Given the description of an element on the screen output the (x, y) to click on. 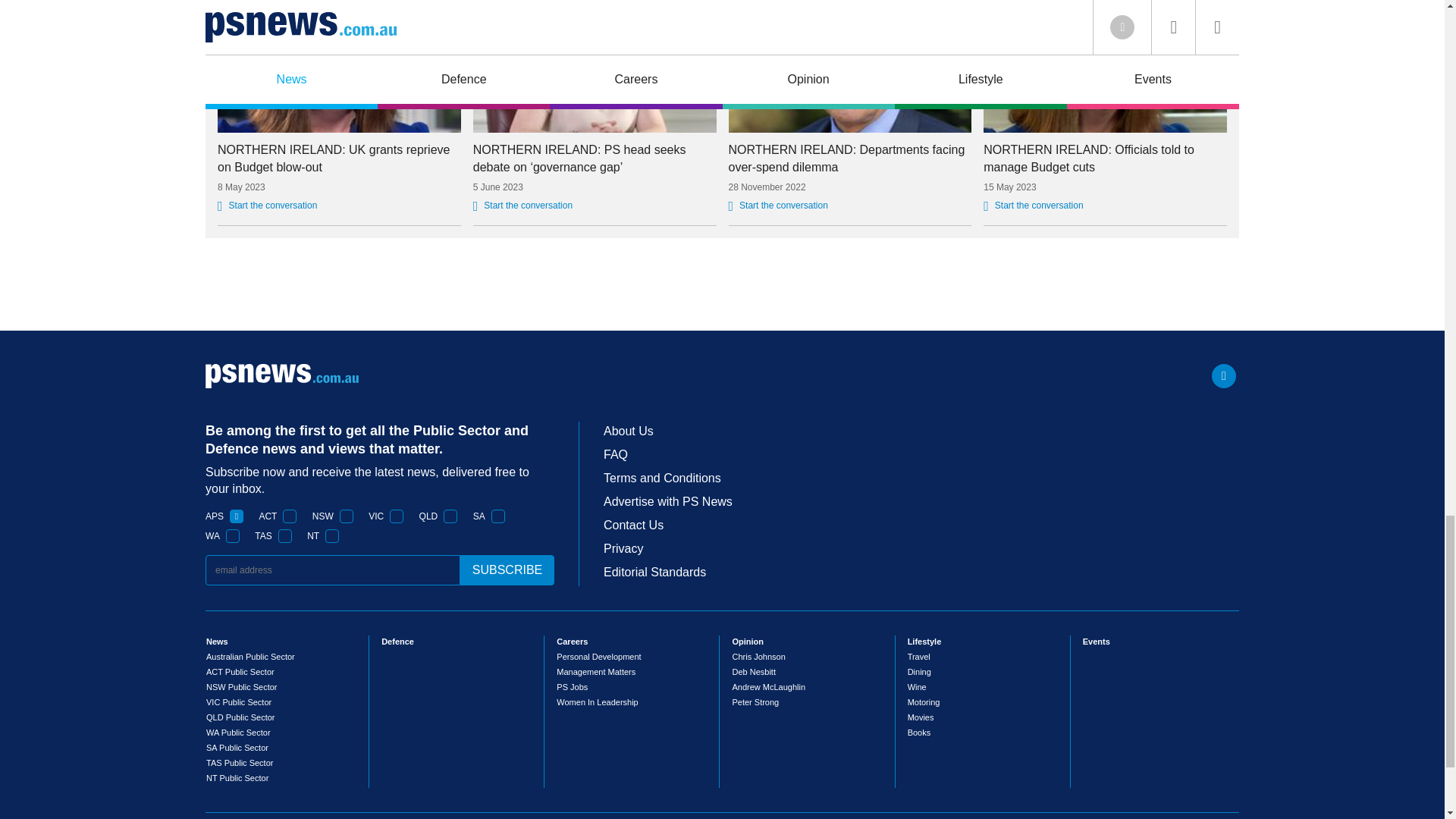
1 (498, 516)
3rd party ad content (721, 284)
1 (232, 535)
subscribe (507, 570)
1 (285, 535)
1 (289, 516)
1 (331, 535)
1 (236, 516)
1 (396, 516)
LinkedIn (1223, 375)
